Given the description of an element on the screen output the (x, y) to click on. 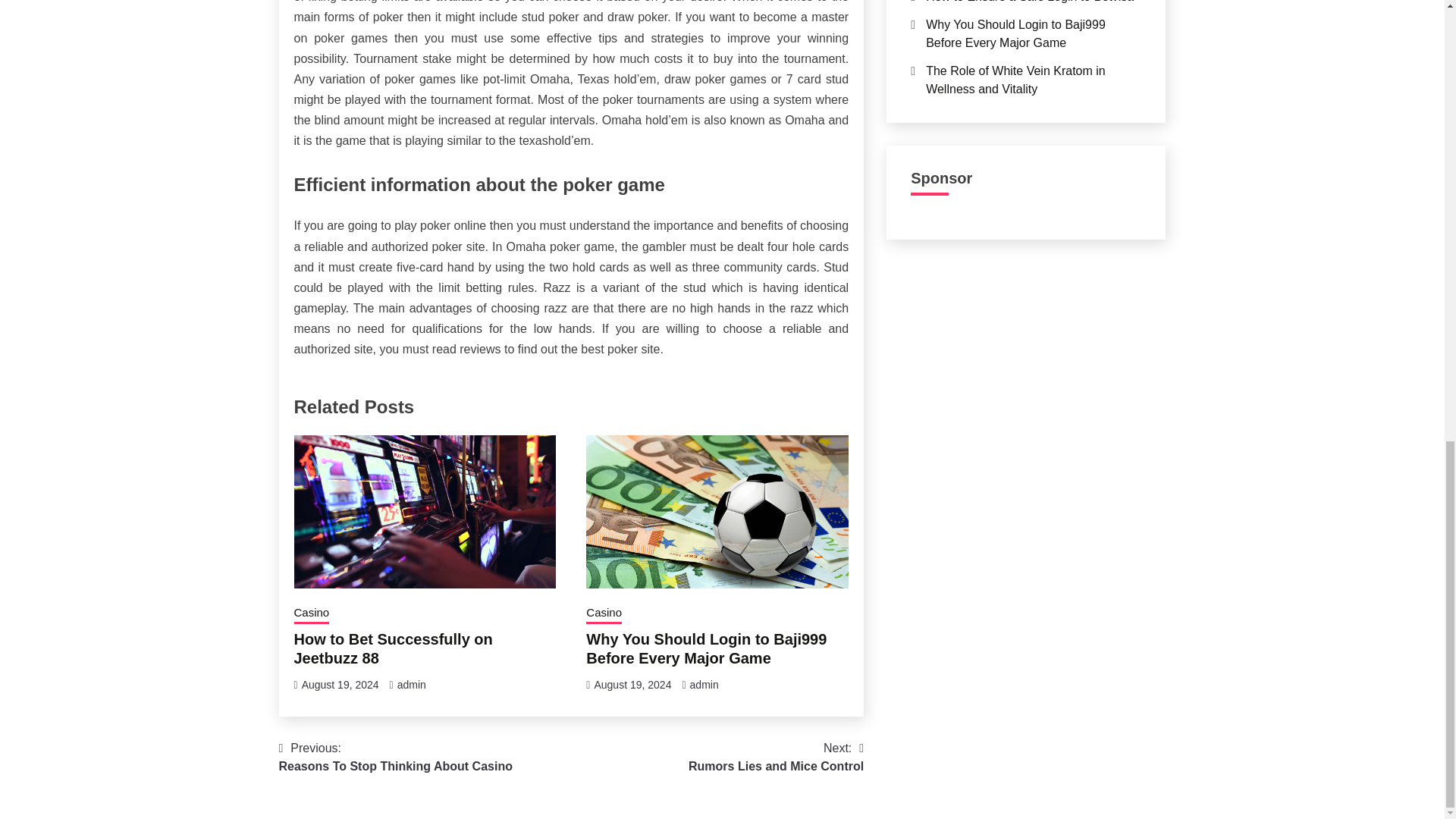
Why You Should Login to Baji999 Before Every Major Game (706, 648)
How to Bet Successfully on Jeetbuzz 88 (393, 648)
Casino (312, 614)
admin (704, 684)
August 19, 2024 (775, 757)
August 19, 2024 (632, 684)
admin (339, 684)
Casino (411, 684)
